Given the description of an element on the screen output the (x, y) to click on. 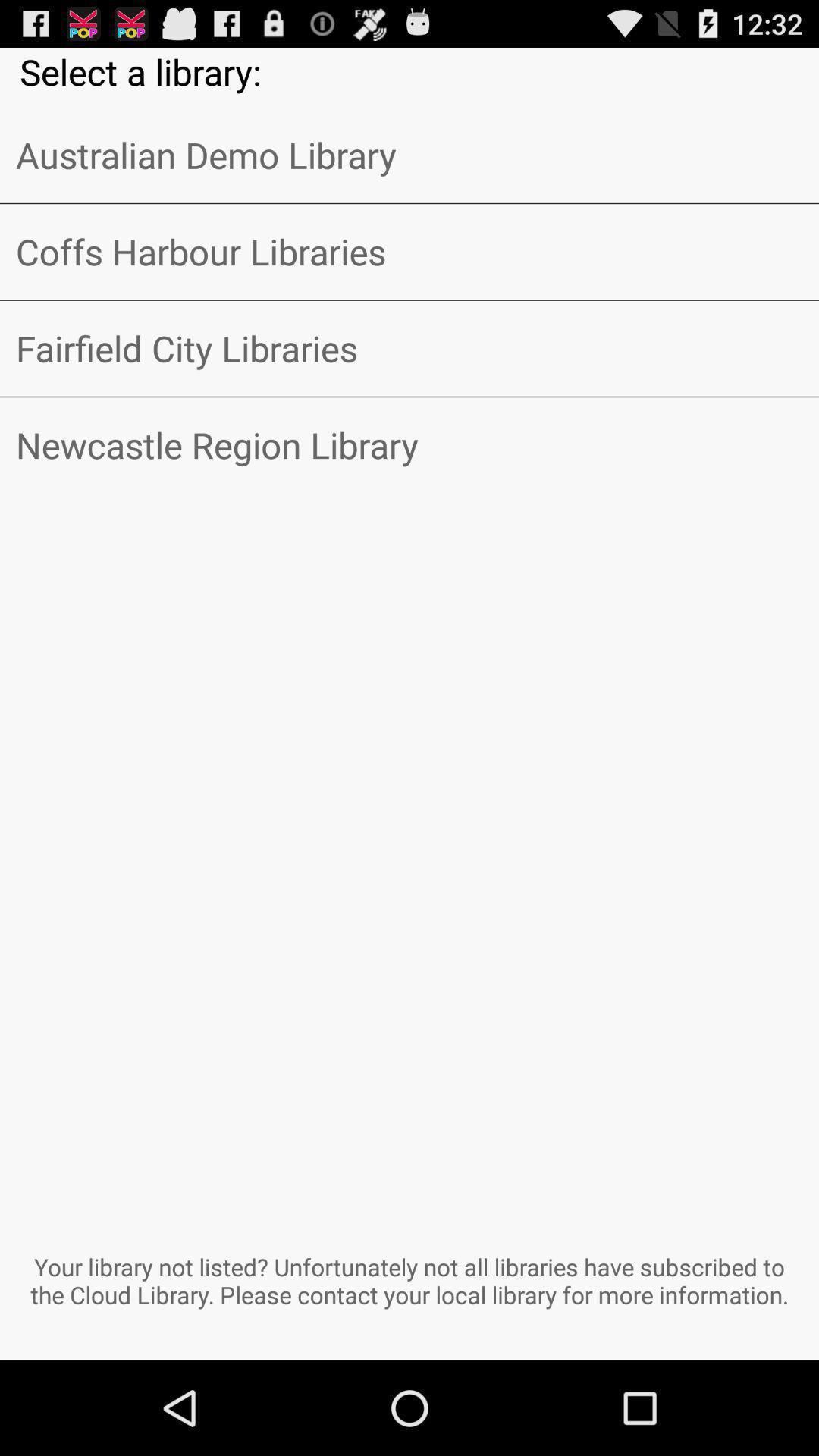
scroll until coffs harbour libraries (409, 251)
